Given the description of an element on the screen output the (x, y) to click on. 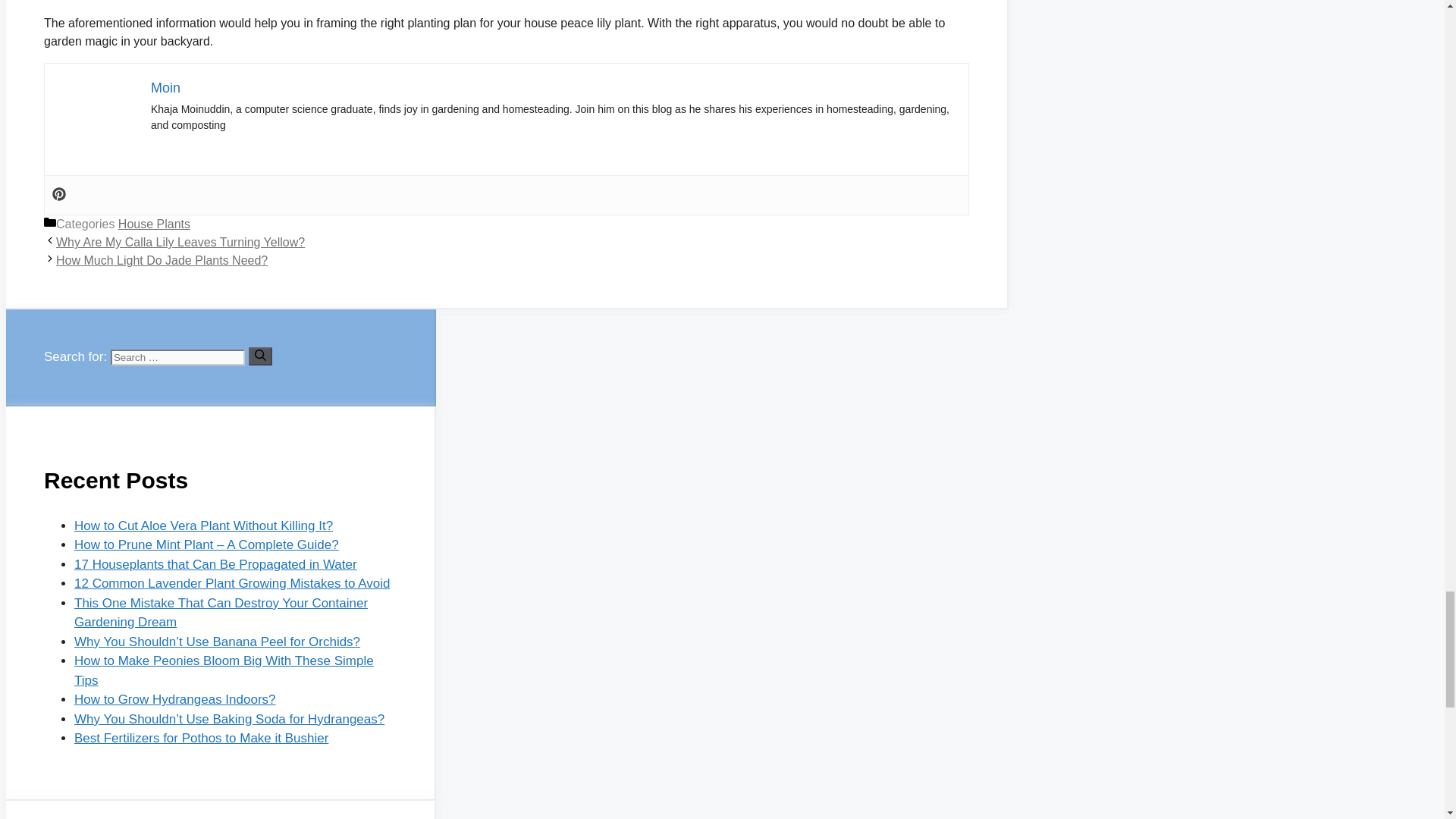
House Plants (153, 223)
Moin (165, 87)
Why Are My Calla Lily Leaves Turning Yellow? (180, 241)
Best Fertilizers for Pothos to Make it Bushier (201, 738)
12 Common Lavender Plant Growing Mistakes to Avoid (232, 583)
Search for: (177, 357)
How Much Light Do Jade Plants Need? (161, 259)
How to Make Peonies Bloom Big With These Simple Tips (224, 670)
How to Grow Hydrangeas Indoors? (175, 699)
17 Houseplants that Can Be Propagated in Water (215, 564)
How to Cut Aloe Vera Plant Without Killing It? (203, 525)
